Given the description of an element on the screen output the (x, y) to click on. 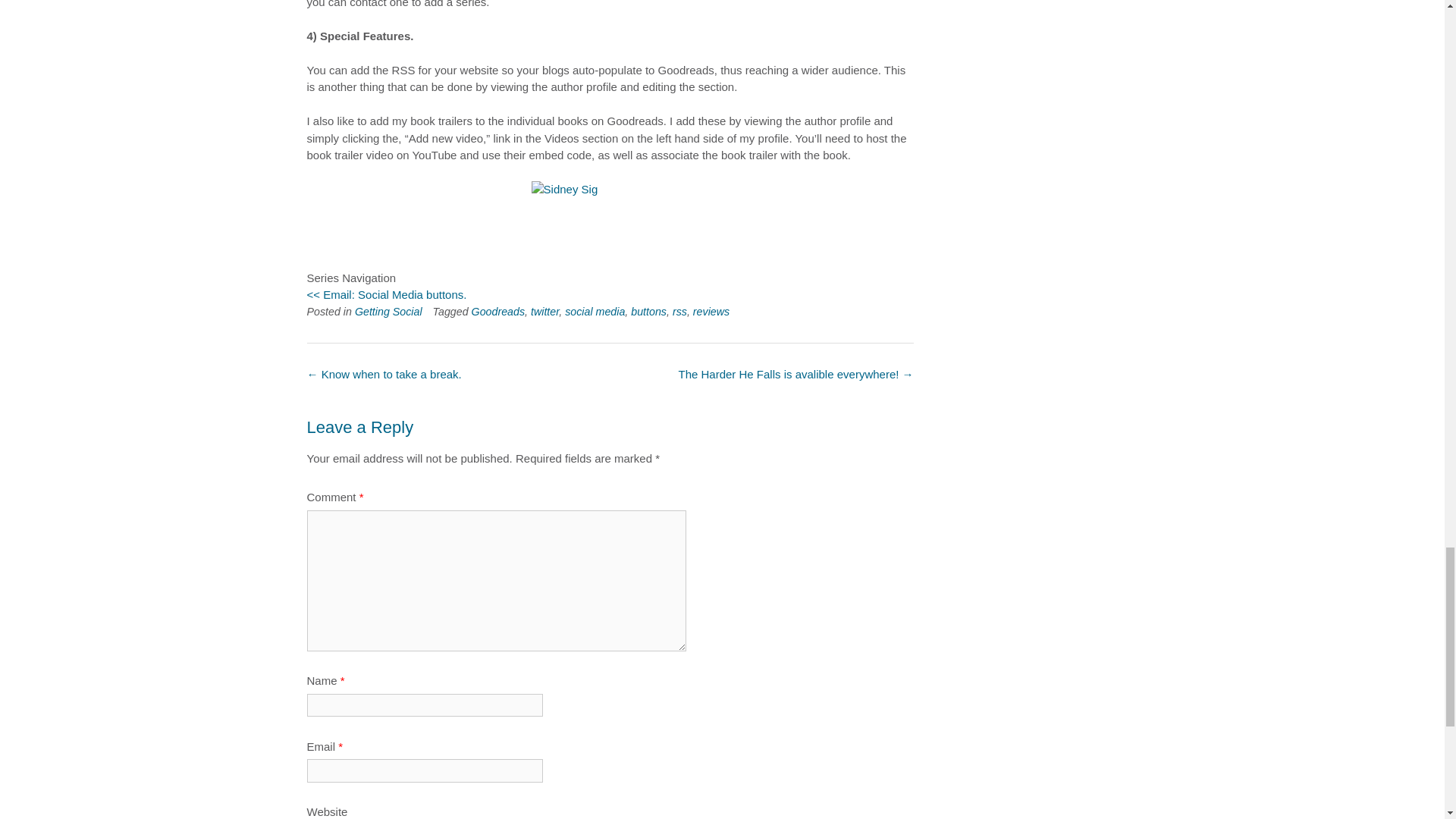
Getting Social (388, 311)
social media (594, 311)
buttons (648, 311)
twitter (545, 311)
Goodreads (498, 311)
reviews (711, 311)
rss (679, 311)
